Given the description of an element on the screen output the (x, y) to click on. 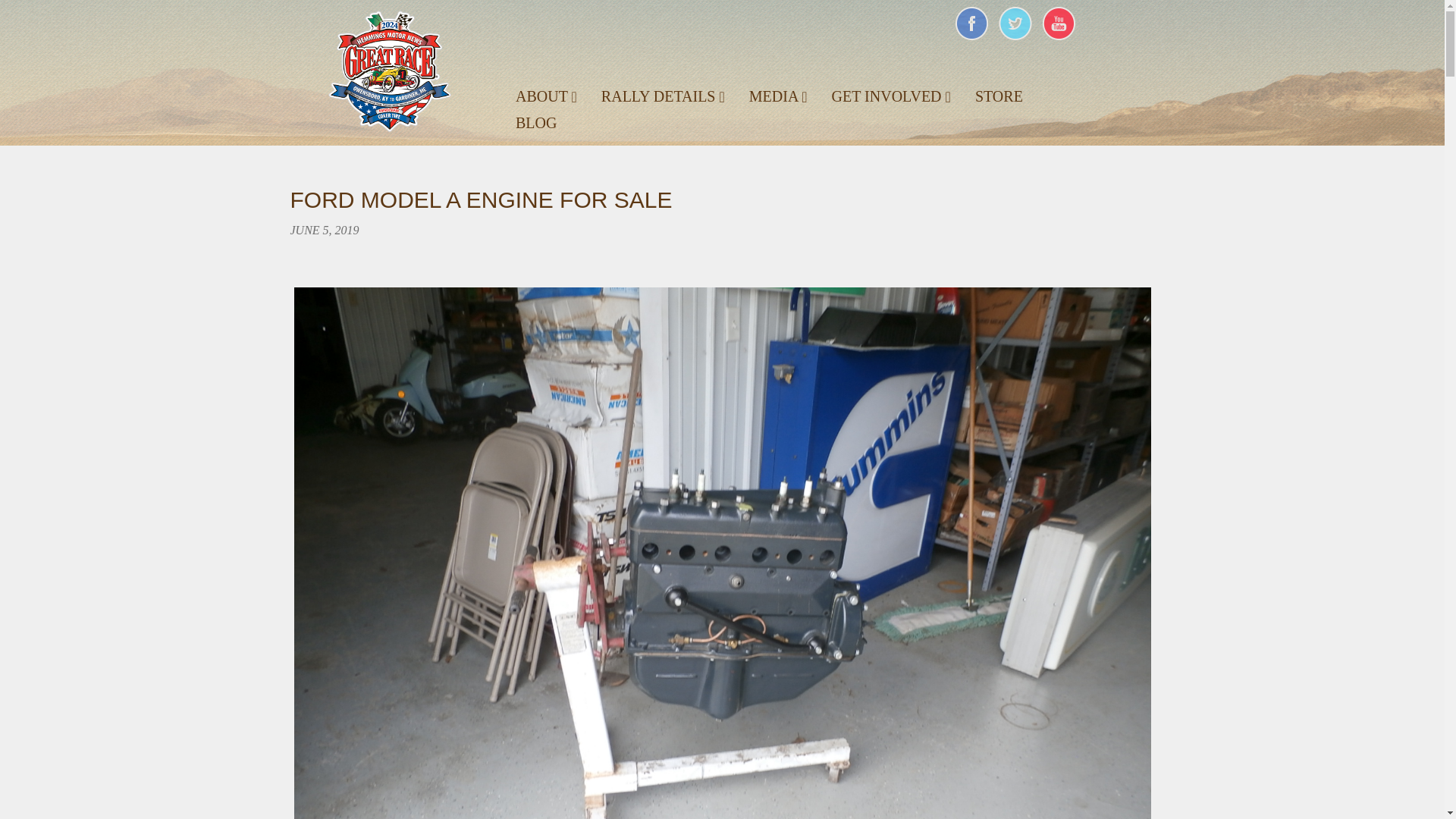
ABOUT  (545, 95)
RALLY DETAILS  (663, 95)
STORE (999, 95)
BLOG (535, 122)
GET INVOLVED  (890, 95)
MEDIA  (778, 95)
